Given the description of an element on the screen output the (x, y) to click on. 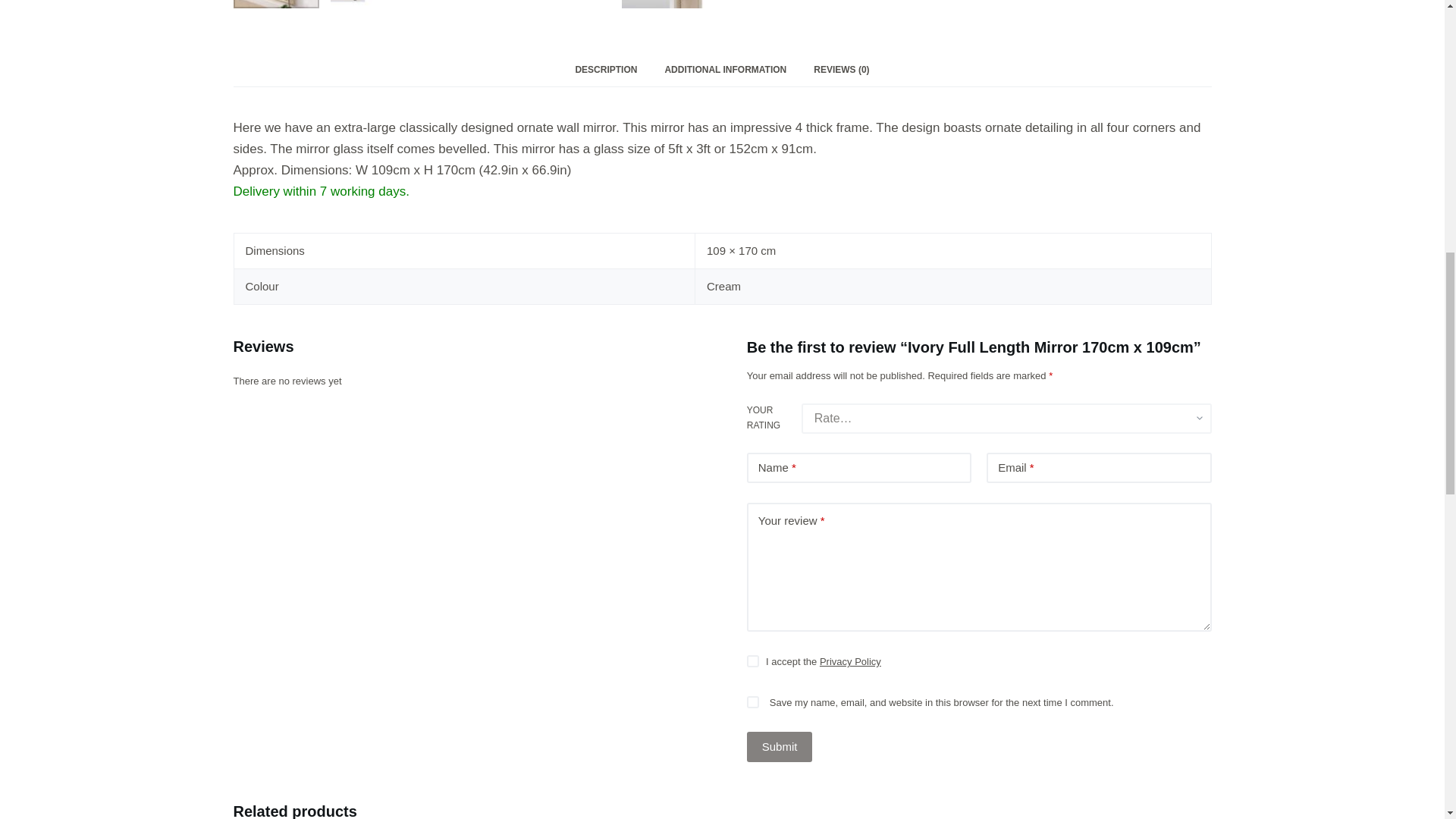
yes (752, 702)
on (752, 661)
